Given the description of an element on the screen output the (x, y) to click on. 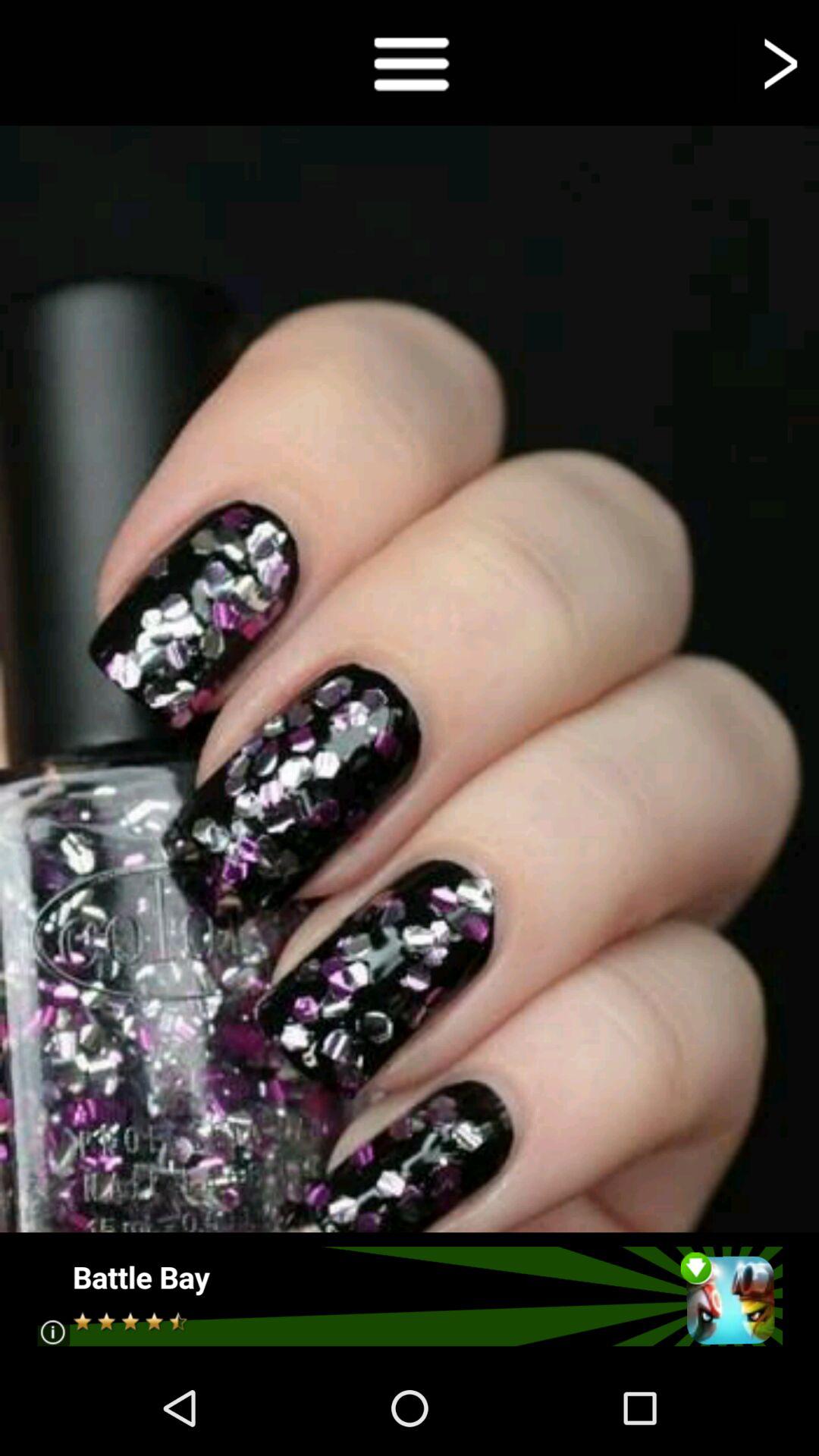
open the advertisement (408, 1296)
